Given the description of an element on the screen output the (x, y) to click on. 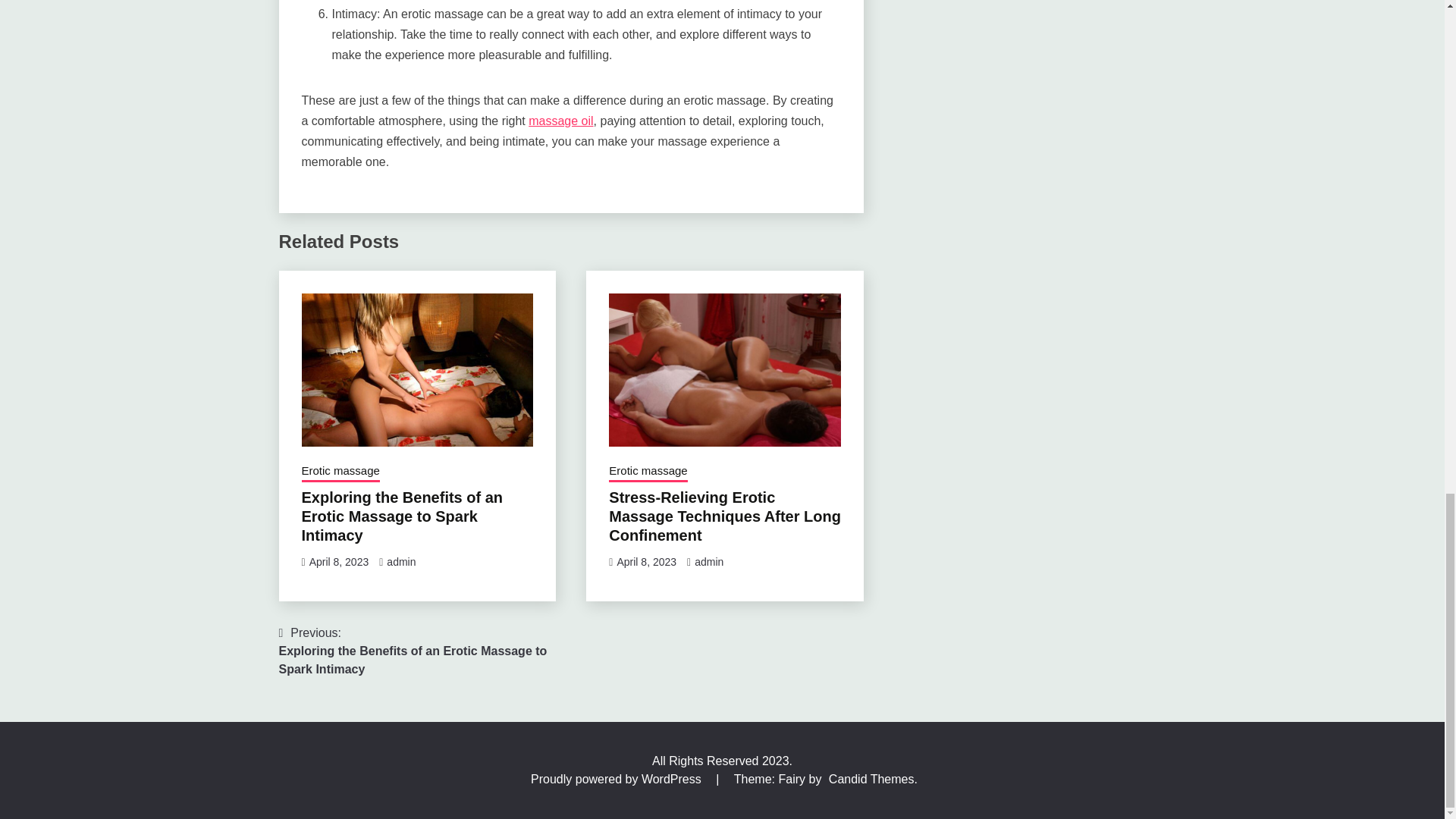
admin (708, 562)
massage oil (560, 120)
April 8, 2023 (646, 562)
Proudly powered by WordPress (617, 779)
Erotic massage (647, 472)
April 8, 2023 (338, 562)
admin (400, 562)
Candid Themes (871, 779)
Erotic massage (340, 472)
